Given the description of an element on the screen output the (x, y) to click on. 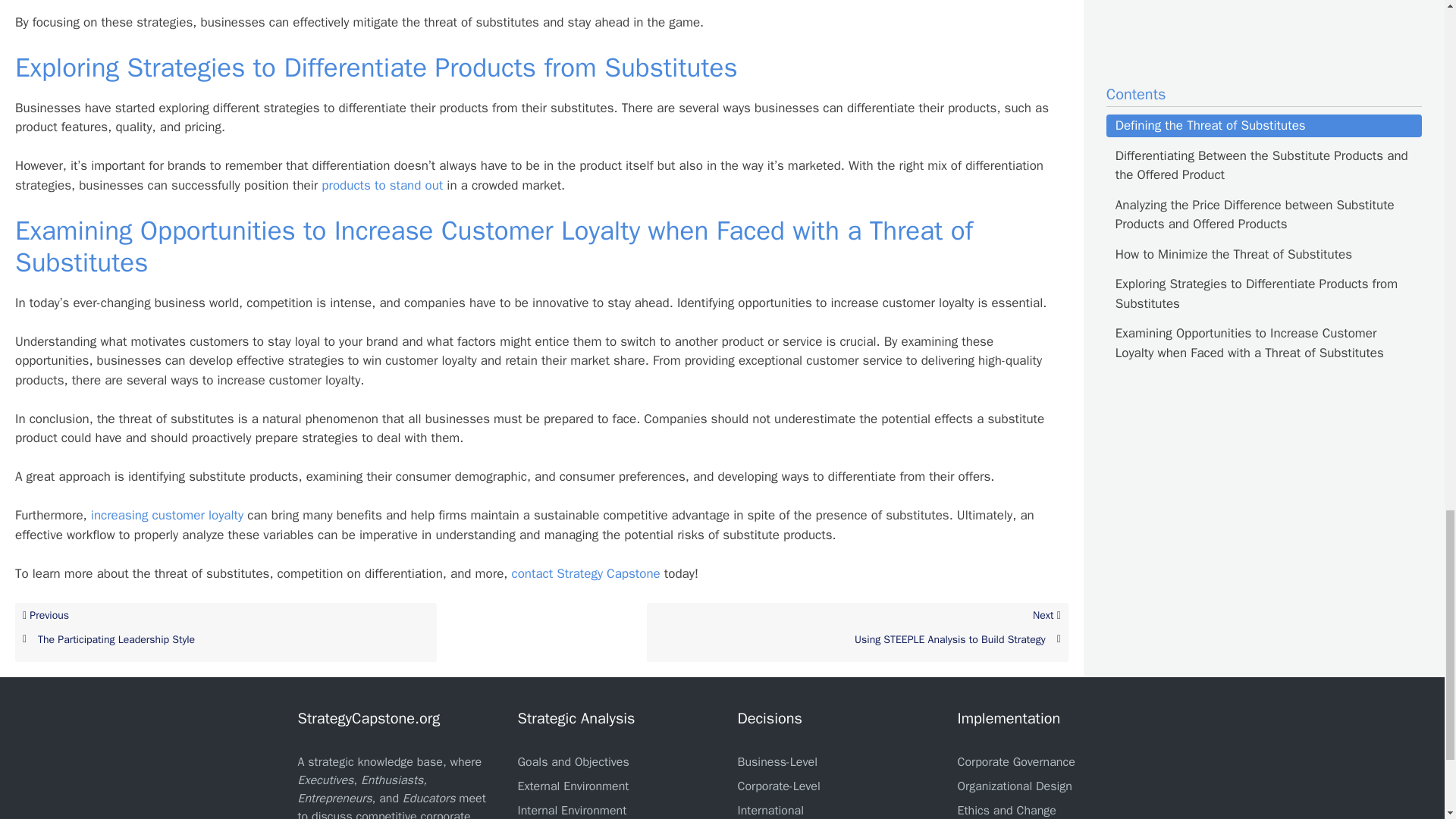
Business-Level (776, 761)
products to stand out (225, 631)
contact Strategy Capstone (381, 185)
International (585, 573)
Corporate Governance (769, 810)
External Environment (1015, 761)
Internal Environment (572, 785)
Goals and Objectives (571, 810)
Corporate-Level (572, 761)
